Given the description of an element on the screen output the (x, y) to click on. 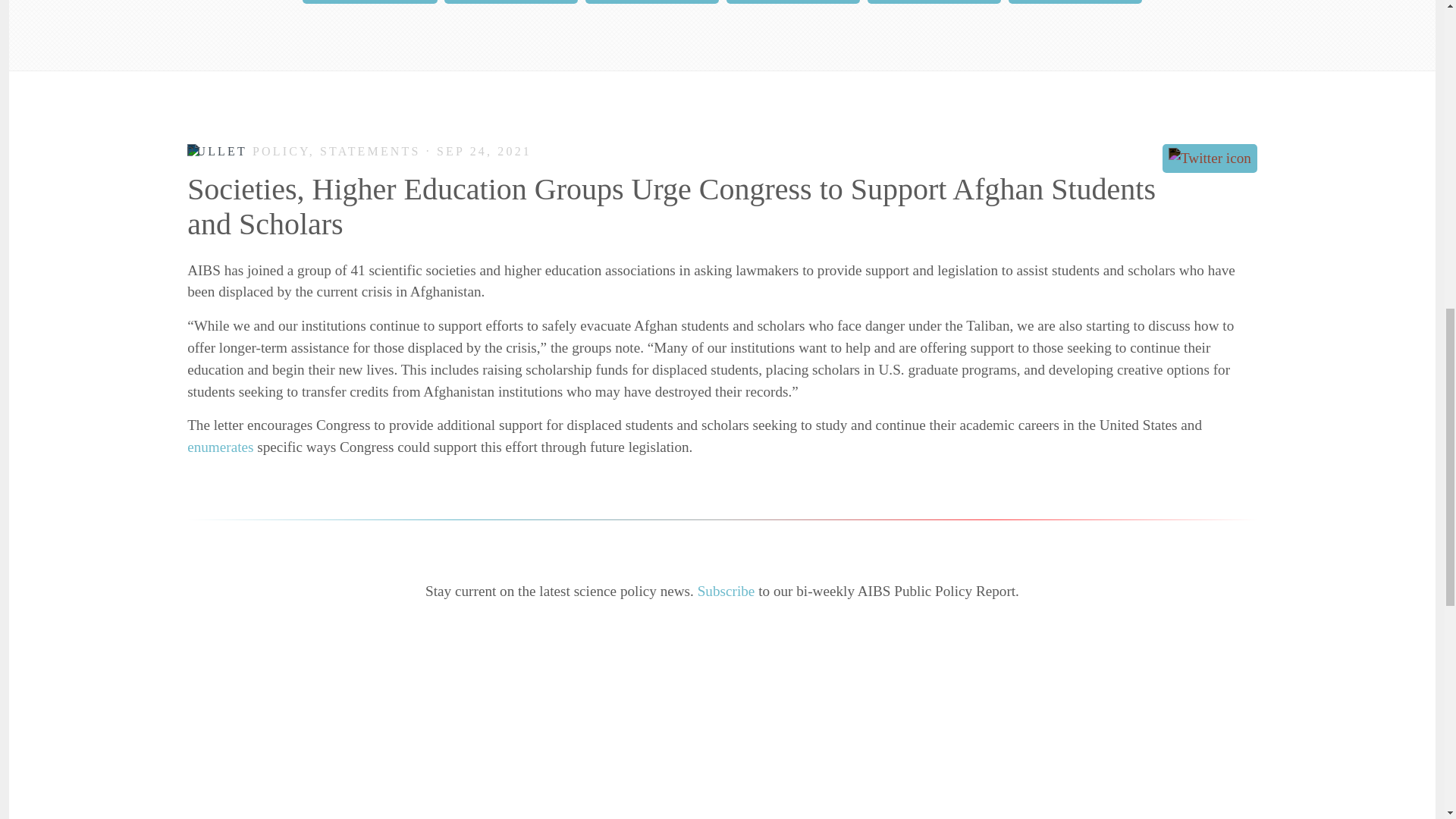
REPORTS (793, 2)
WORKSHOPS (1075, 2)
PEER-REVIEW (370, 2)
PODCASTS (511, 2)
STATEMENTS (934, 2)
POLICY (652, 2)
Subscribe (726, 590)
enumerates (220, 446)
Share on Twitter (1209, 158)
